Given the description of an element on the screen output the (x, y) to click on. 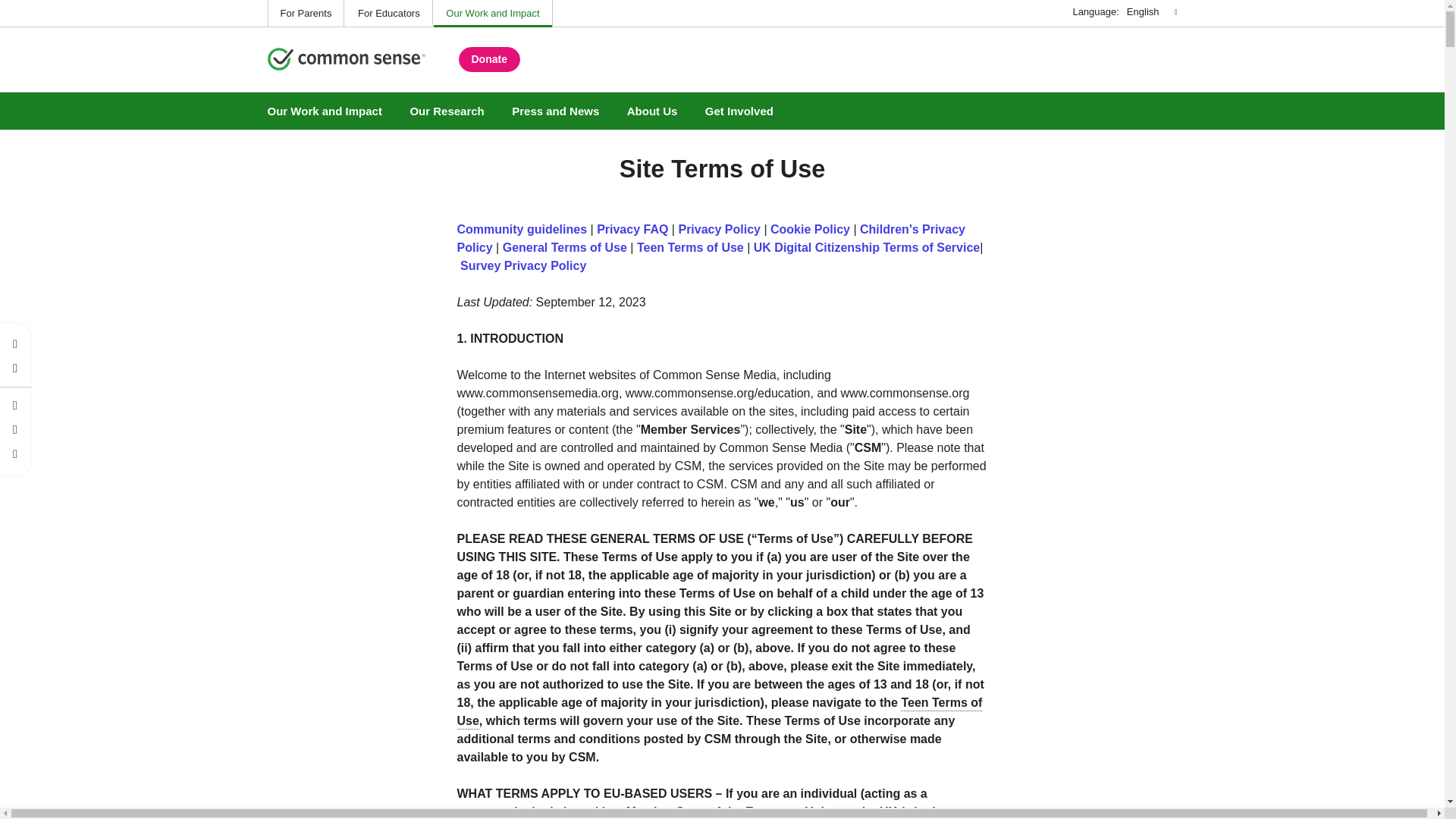
Our Work and Impact (492, 14)
Press and News (555, 110)
For Parents (305, 13)
Our Work and Impact (323, 110)
Donate (488, 59)
Our Research (446, 110)
Click to go back to the homepage (345, 60)
English (1149, 11)
For Educators (389, 13)
